Given the description of an element on the screen output the (x, y) to click on. 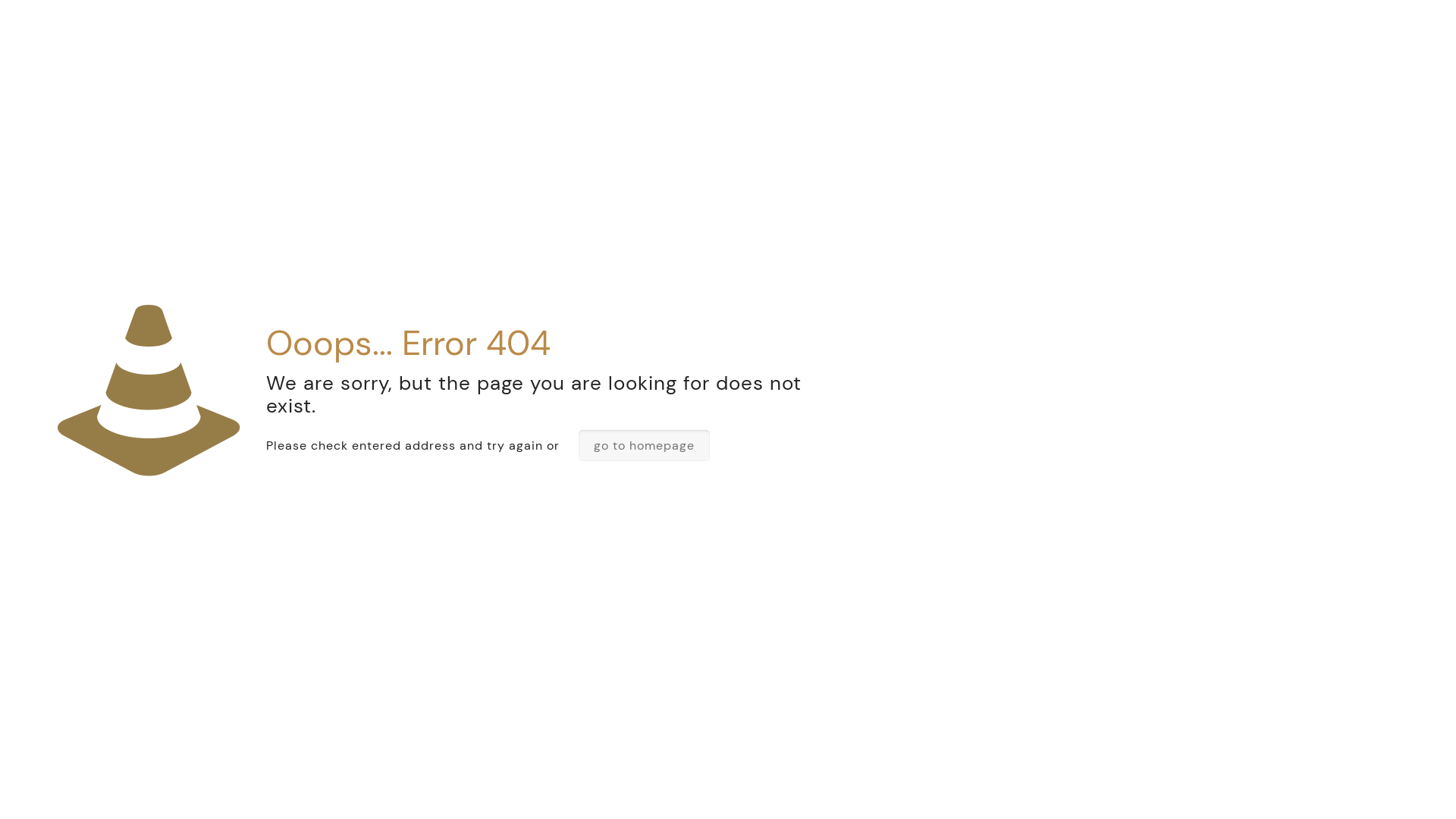
go to homepage Element type: text (643, 445)
